Given the description of an element on the screen output the (x, y) to click on. 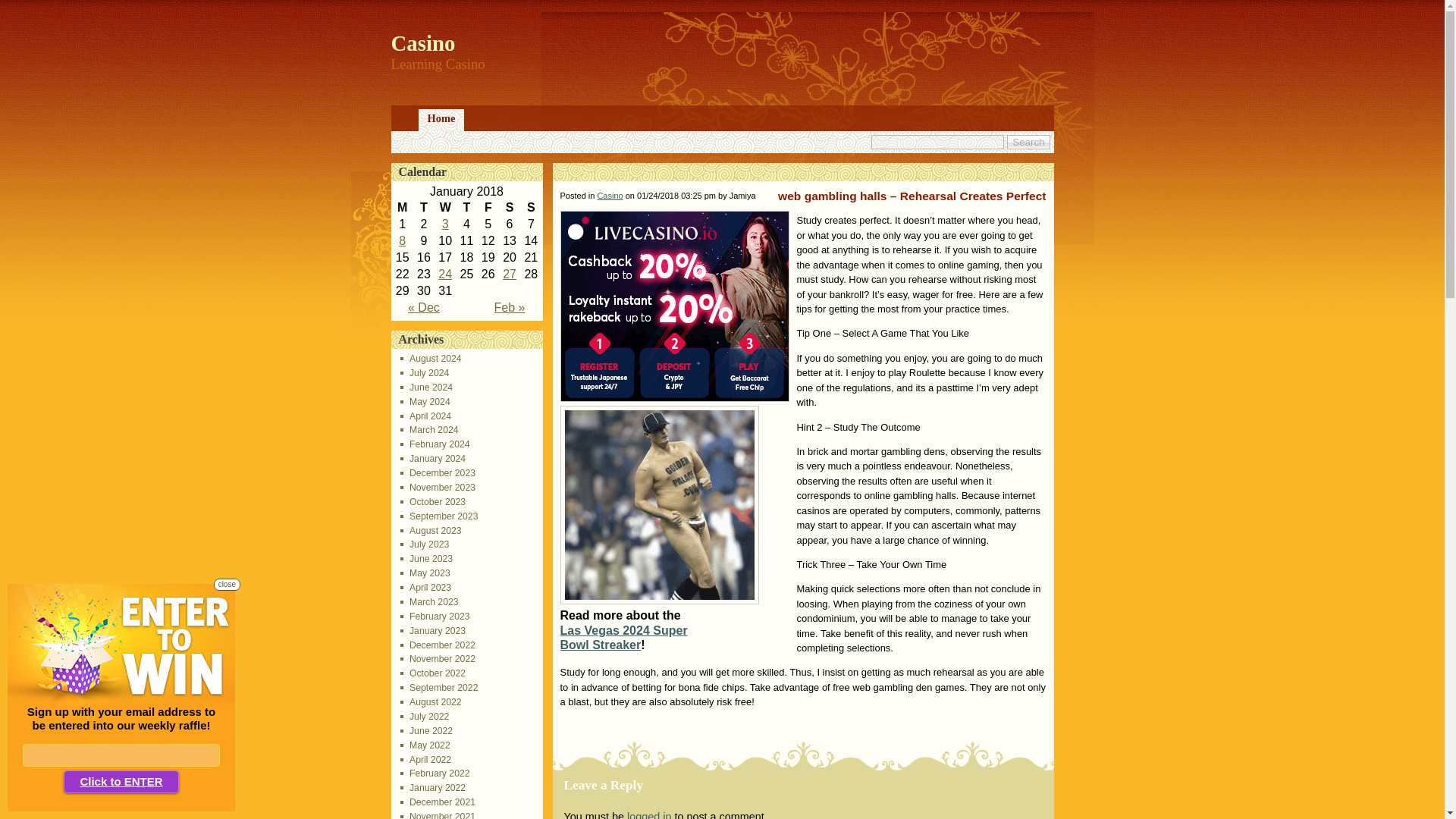
Sunday (530, 207)
Friday (488, 207)
Home (441, 119)
February 2024 (435, 443)
January 2024 (432, 458)
April 2023 (425, 587)
May 2023 (424, 573)
May 2022 (424, 745)
June 2023 (426, 558)
Monday (402, 207)
